Given the description of an element on the screen output the (x, y) to click on. 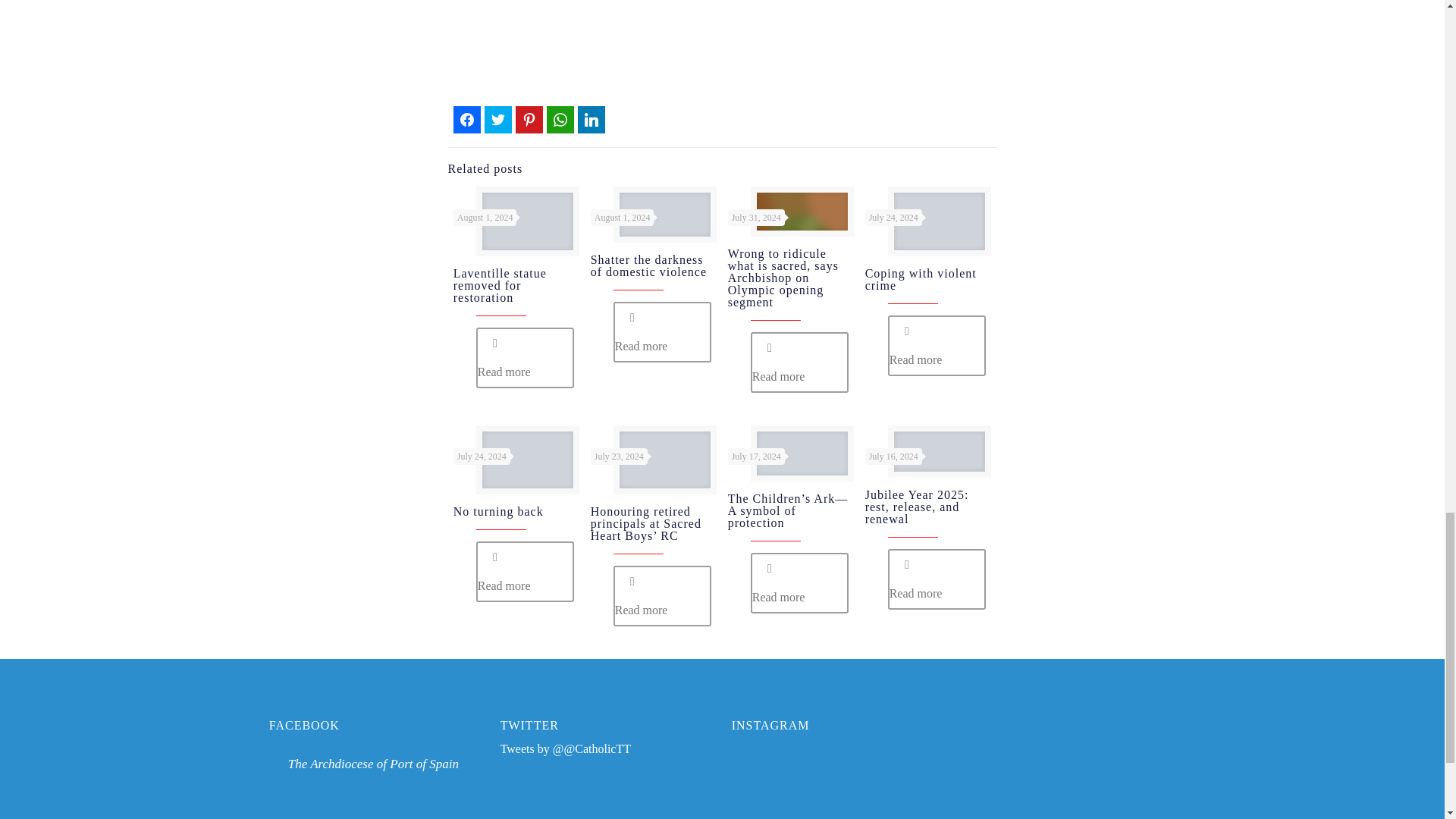
Share on Pinterest (529, 119)
Share on Facebook (466, 119)
Share on WhatsApp (560, 119)
Share on LinkedIn (591, 119)
Share on Twitter (498, 119)
